Given the description of an element on the screen output the (x, y) to click on. 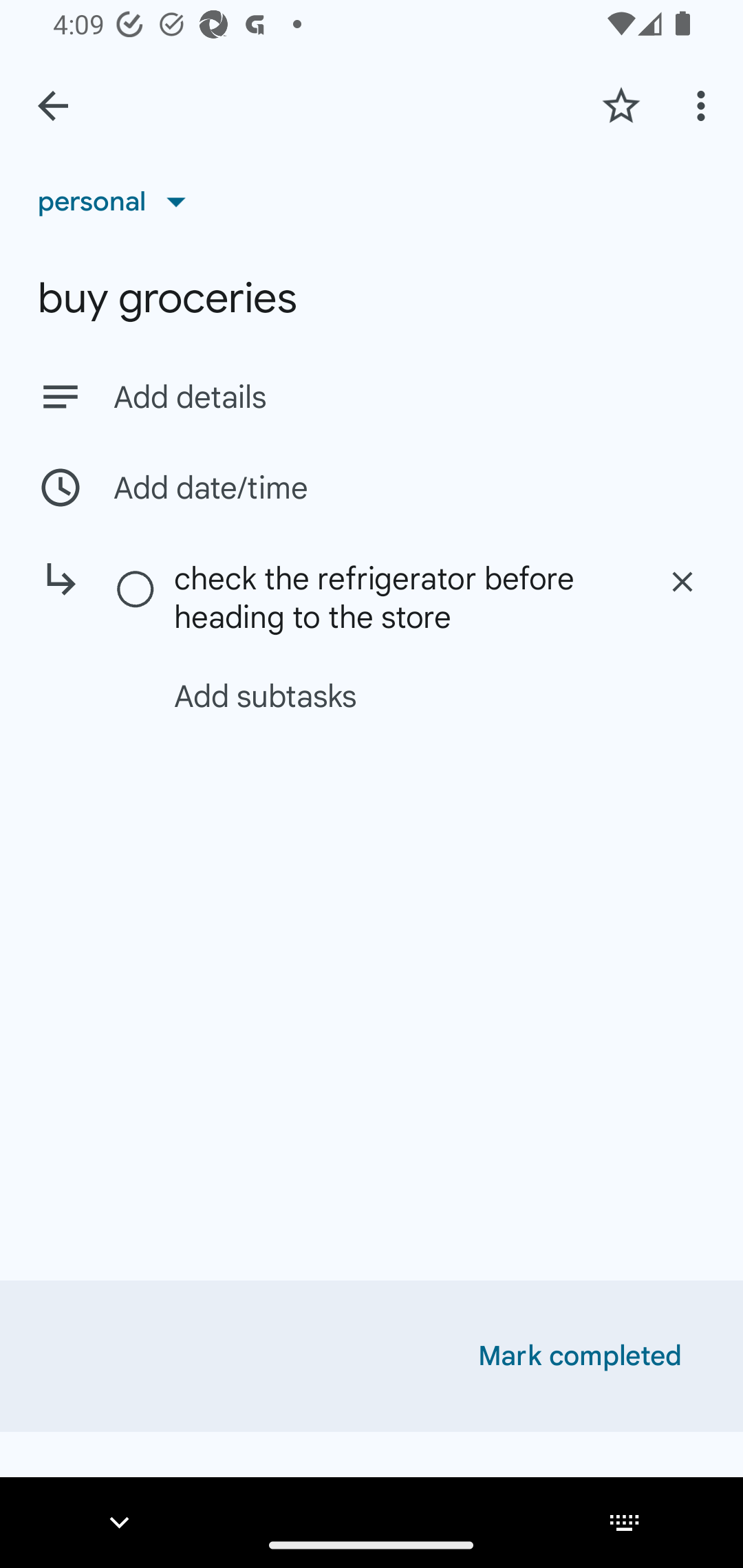
Back (53, 105)
Add star (620, 105)
More options (704, 105)
personal List, personal selected, 1 of 13 (118, 201)
buy groceries (371, 298)
Add details (371, 396)
Add details (409, 397)
Add date/time (371, 487)
check the refrigerator before heading to the store (401, 597)
Delete subtask (682, 581)
Mark as complete (136, 590)
Add subtasks (394, 695)
Mark completed (580, 1355)
